Given the description of an element on the screen output the (x, y) to click on. 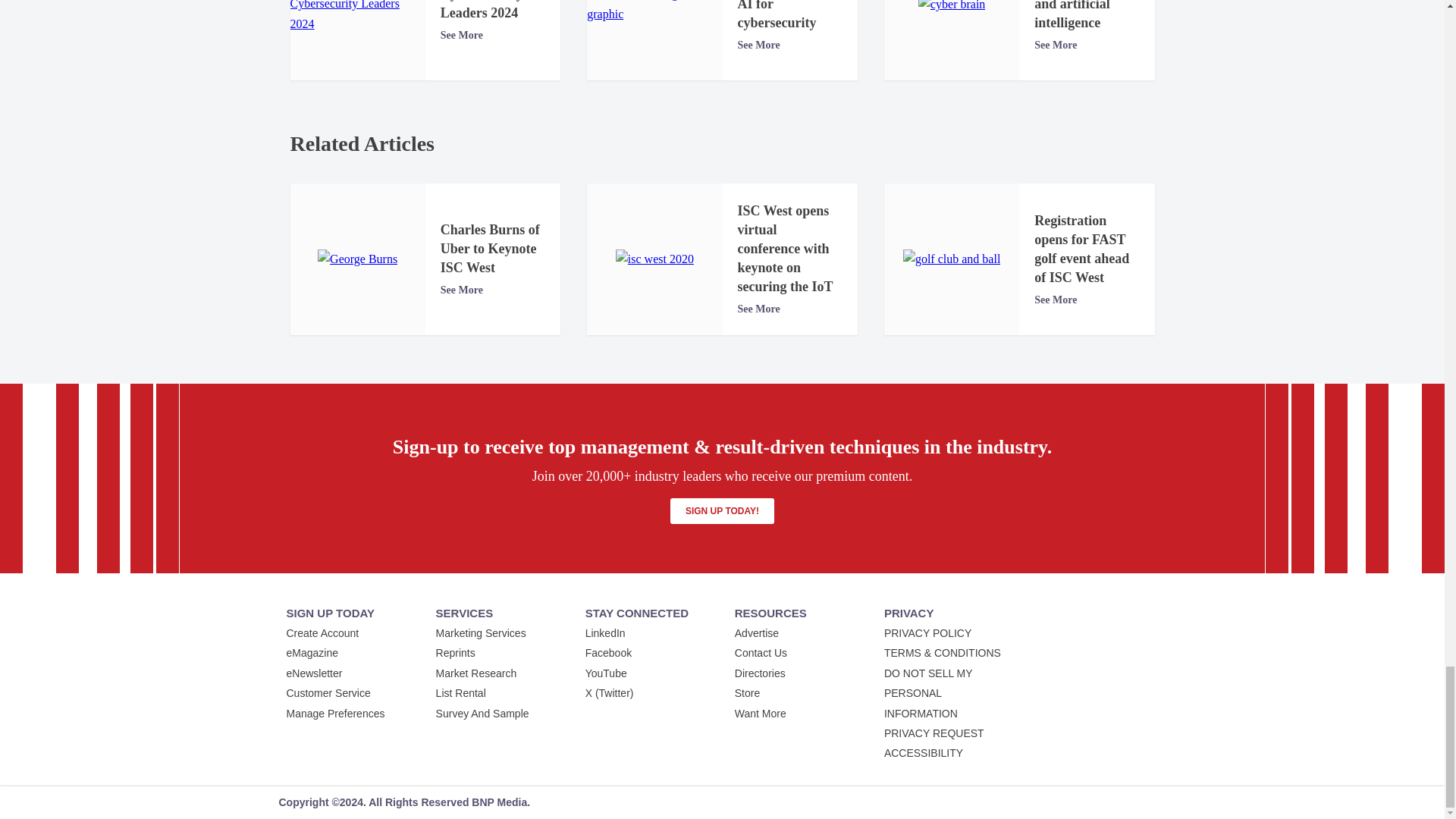
isc west 2020 (654, 259)
cyber brain (951, 7)
Artificial Intelligence (654, 12)
Security's Top Cybersecurity Leaders 2024 (357, 17)
George Burns (357, 259)
